Given the description of an element on the screen output the (x, y) to click on. 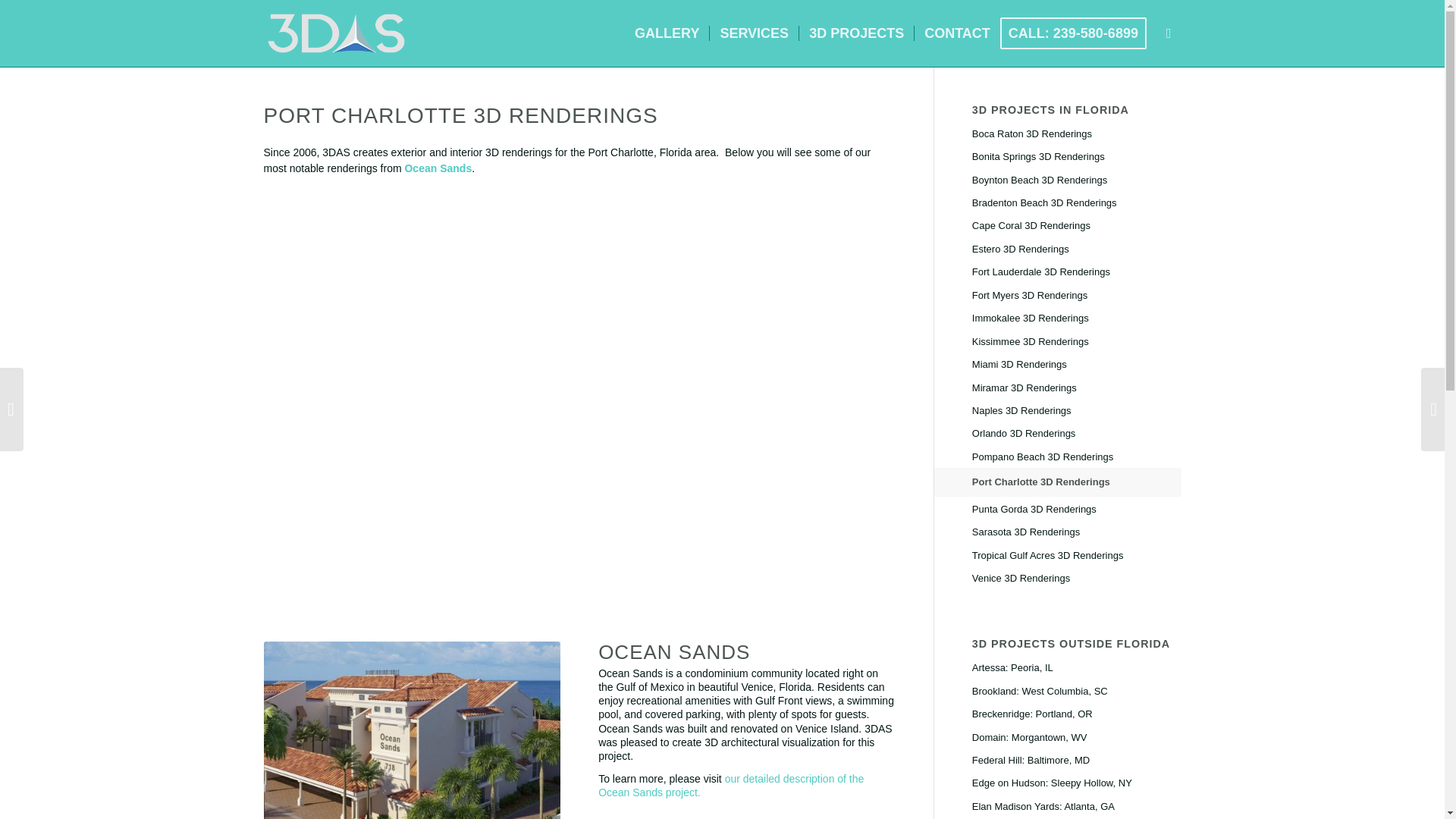
Bonita Springs 3D Renderings (1076, 156)
our detailed description of the Ocean Sands project. (730, 785)
Kissimmee 3D Renderings (1076, 341)
Fort Lauderdale 3D Renderings (1076, 272)
3D PROJECTS (855, 33)
Miramar 3D Renderings (1076, 387)
Boynton Beach 3D Renderings (1076, 179)
Immokalee 3D Renderings (1076, 318)
Estero 3D Renderings (1076, 249)
Boca Raton 3D Renderings (1076, 133)
